Given the description of an element on the screen output the (x, y) to click on. 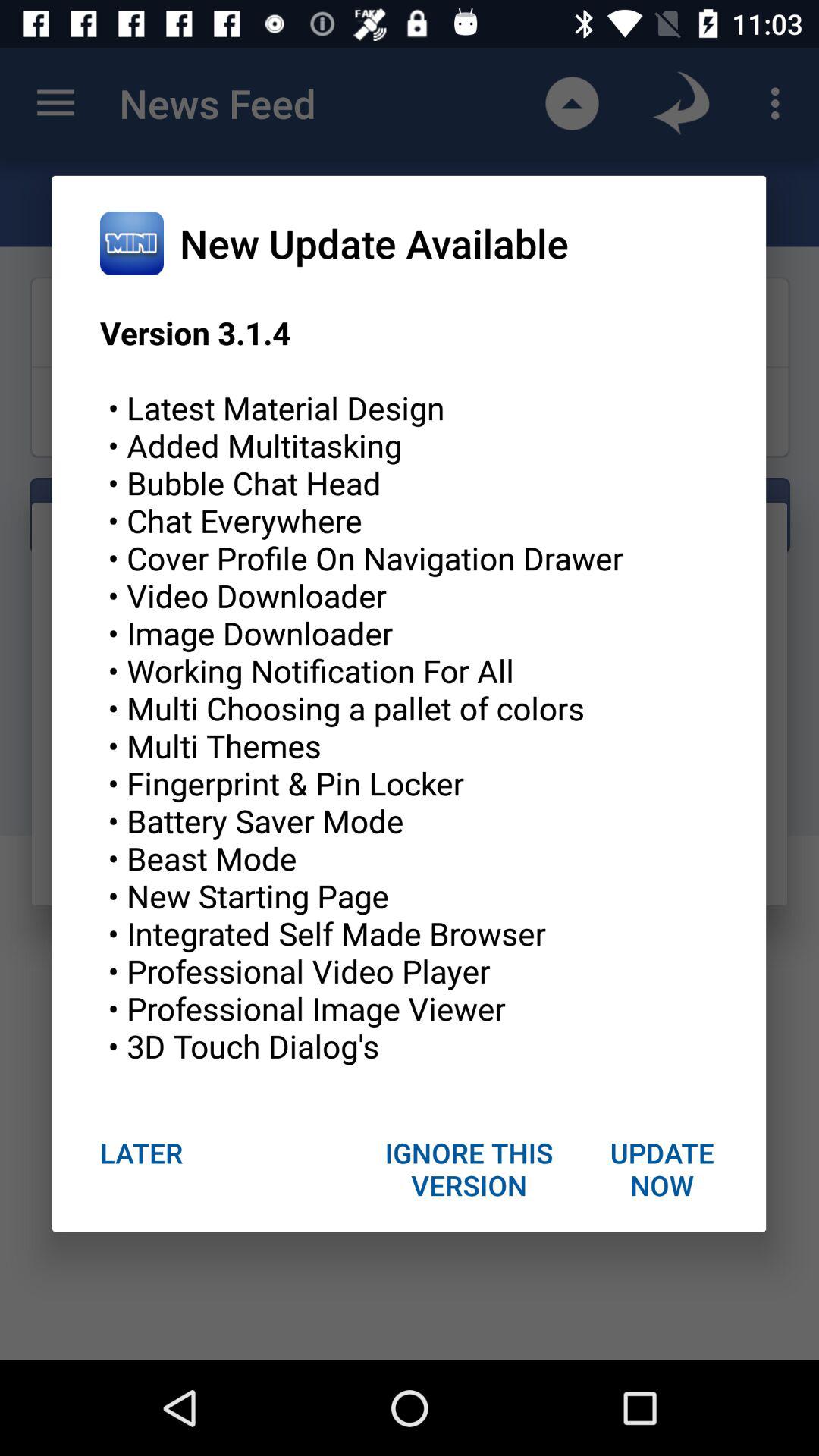
tap icon to the right of later (469, 1168)
